Given the description of an element on the screen output the (x, y) to click on. 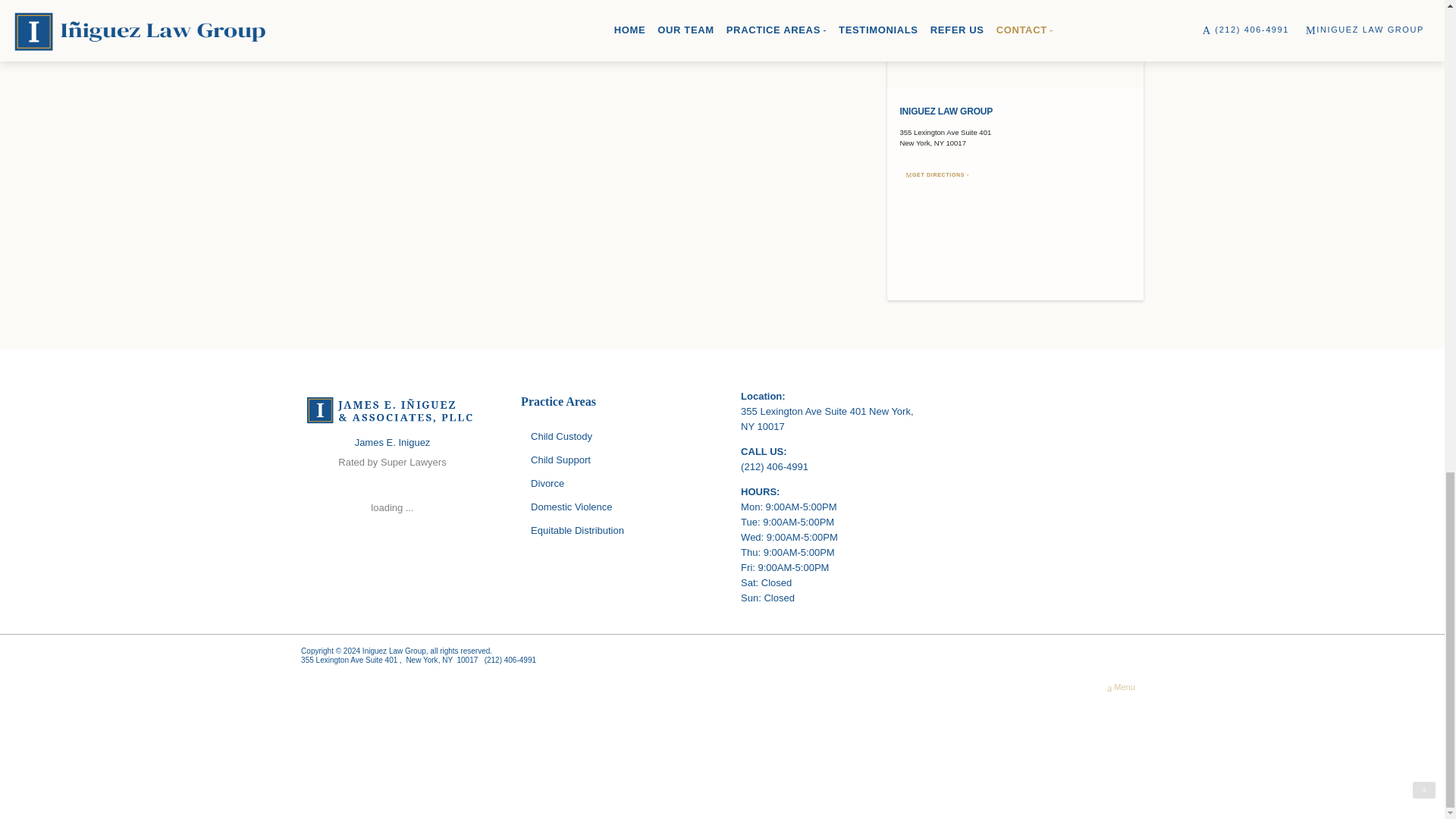
Divorce (612, 484)
Equitable Distribution (612, 531)
Open Menu (1120, 686)
James E. Iniguez (392, 441)
GET DIRECTIONS (938, 175)
Menu (1120, 686)
Child Support (612, 460)
Domestic Violence (612, 506)
Child Custody (612, 436)
